Given the description of an element on the screen output the (x, y) to click on. 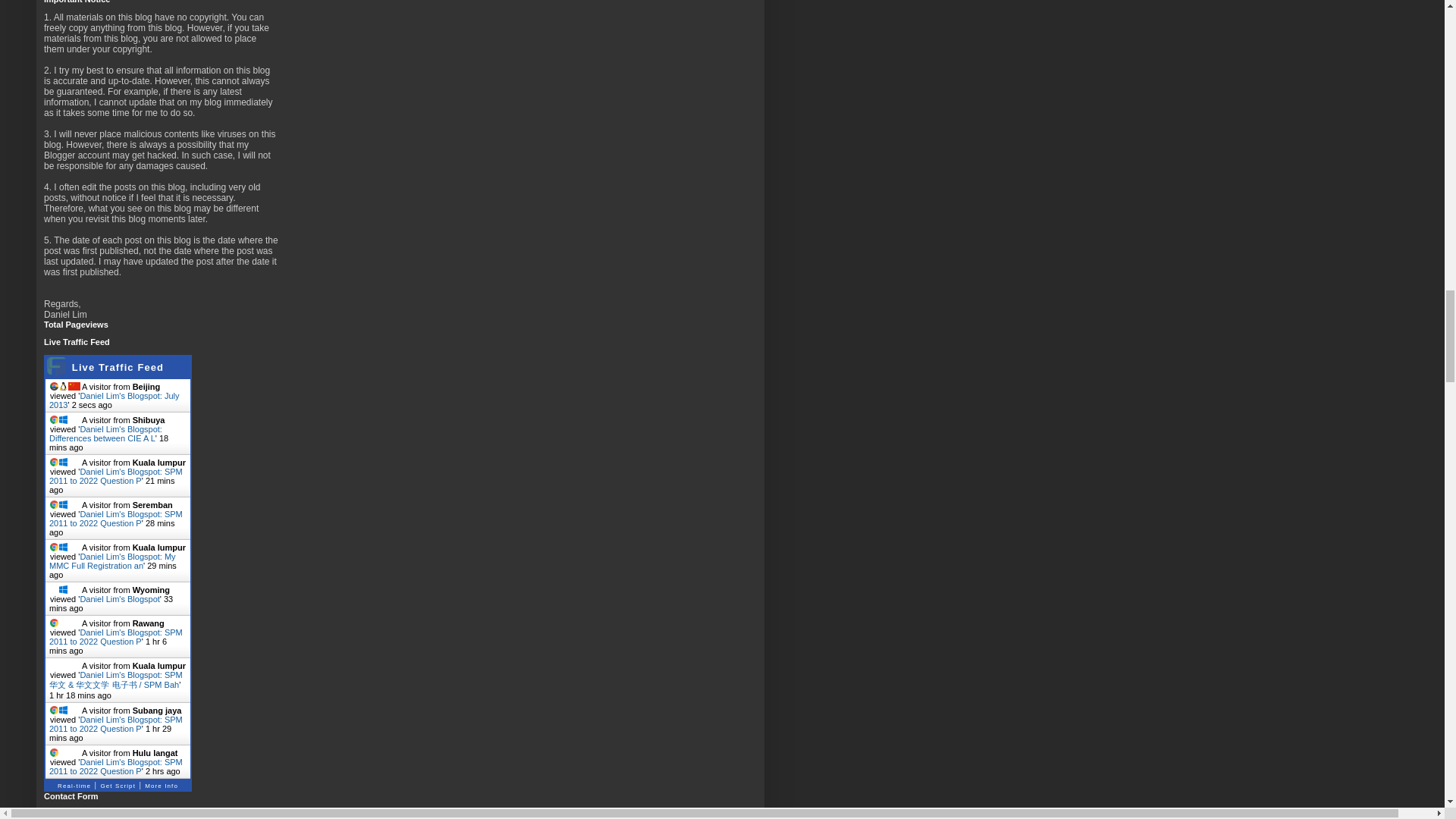
Daniel Lim's Blogspot: Differences between CIE A L (105, 434)
Get Script (117, 783)
More Info (160, 783)
Real-time (74, 783)
Windows (62, 419)
Daniel Lim's Blogspot: SPM 2011 to 2022 Question P (116, 518)
Daniel Lim's Blogspot: SPM 2011 to 2022 Question P (116, 637)
China (74, 386)
GNU Linux (62, 386)
Daniel Lim's Blogspot: My MMC Full Registration an (112, 561)
Live Traffic Feed (117, 367)
Daniel Lim's Blogspot: SPM 2011 to 2022 Question P (116, 475)
Daniel Lim's Blogspot: July 2013 (114, 400)
Daniel Lim's Blogspot: SPM 2011 to 2022 Question P (116, 723)
Headless Chrome (53, 386)
